Given the description of an element on the screen output the (x, y) to click on. 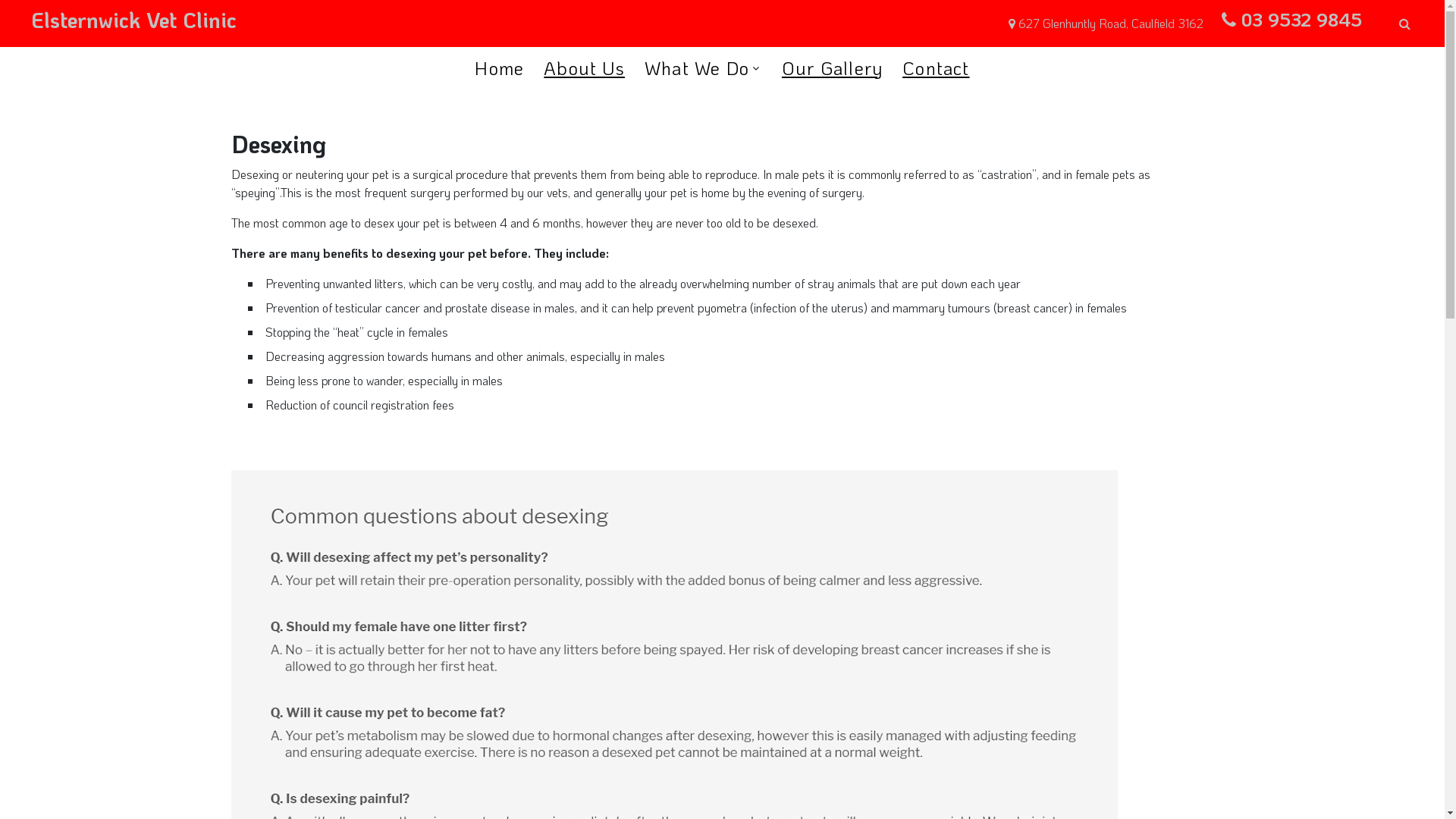
03 9532 9845 Element type: text (1301, 19)
Our Gallery Element type: text (831, 67)
About Us Element type: text (583, 67)
Contact Element type: text (935, 67)
What We Do Element type: text (696, 67)
Home Element type: text (499, 67)
